Given the description of an element on the screen output the (x, y) to click on. 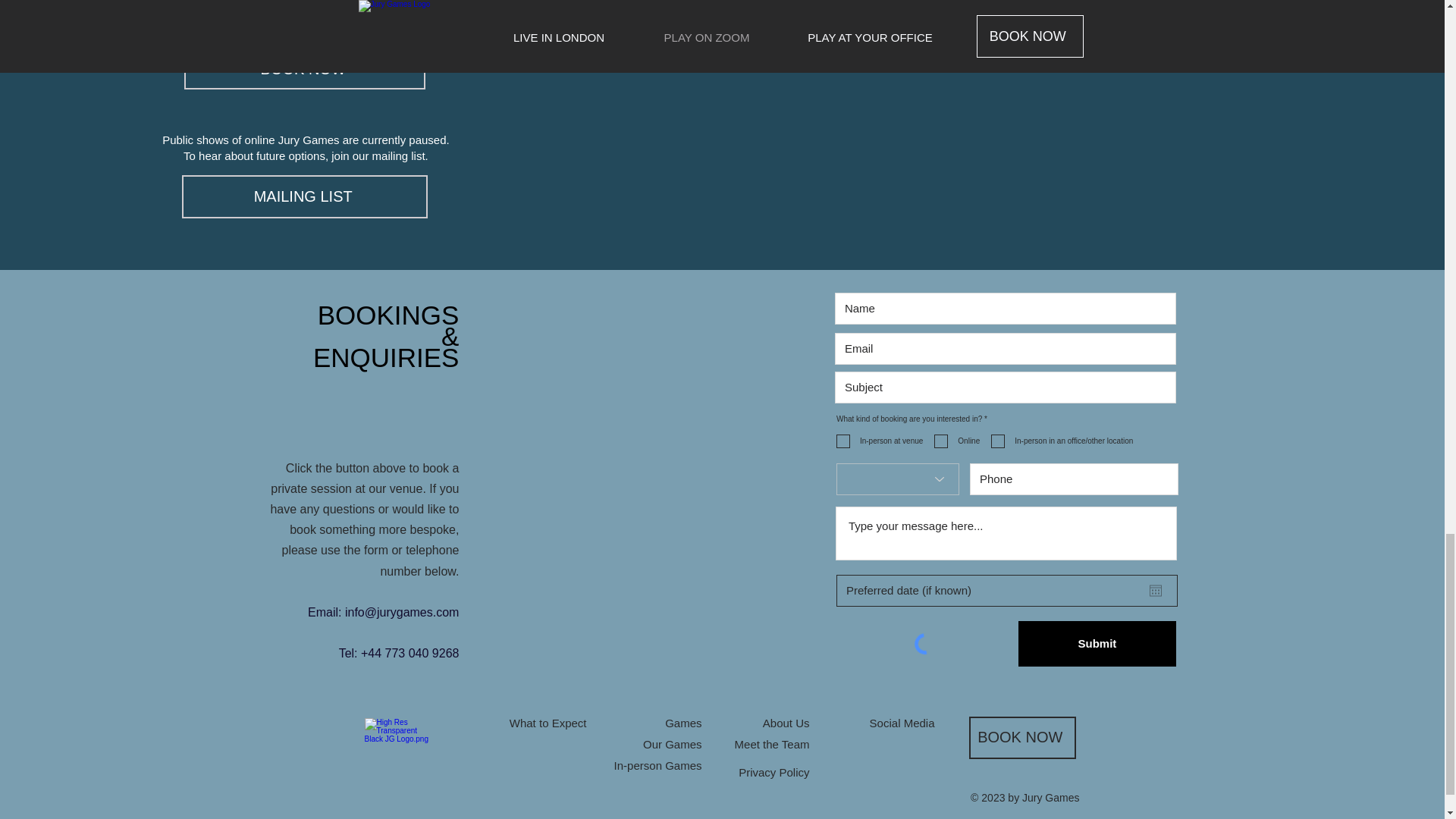
About Us (785, 722)
What to Expect (547, 722)
Meet the Team (772, 744)
BOOK NOW (304, 69)
BOOK NOW (1022, 737)
Our Games (672, 744)
Privacy Policy (773, 771)
In-person Games (657, 765)
MAILING LIST (305, 196)
Submit (1096, 643)
